Given the description of an element on the screen output the (x, y) to click on. 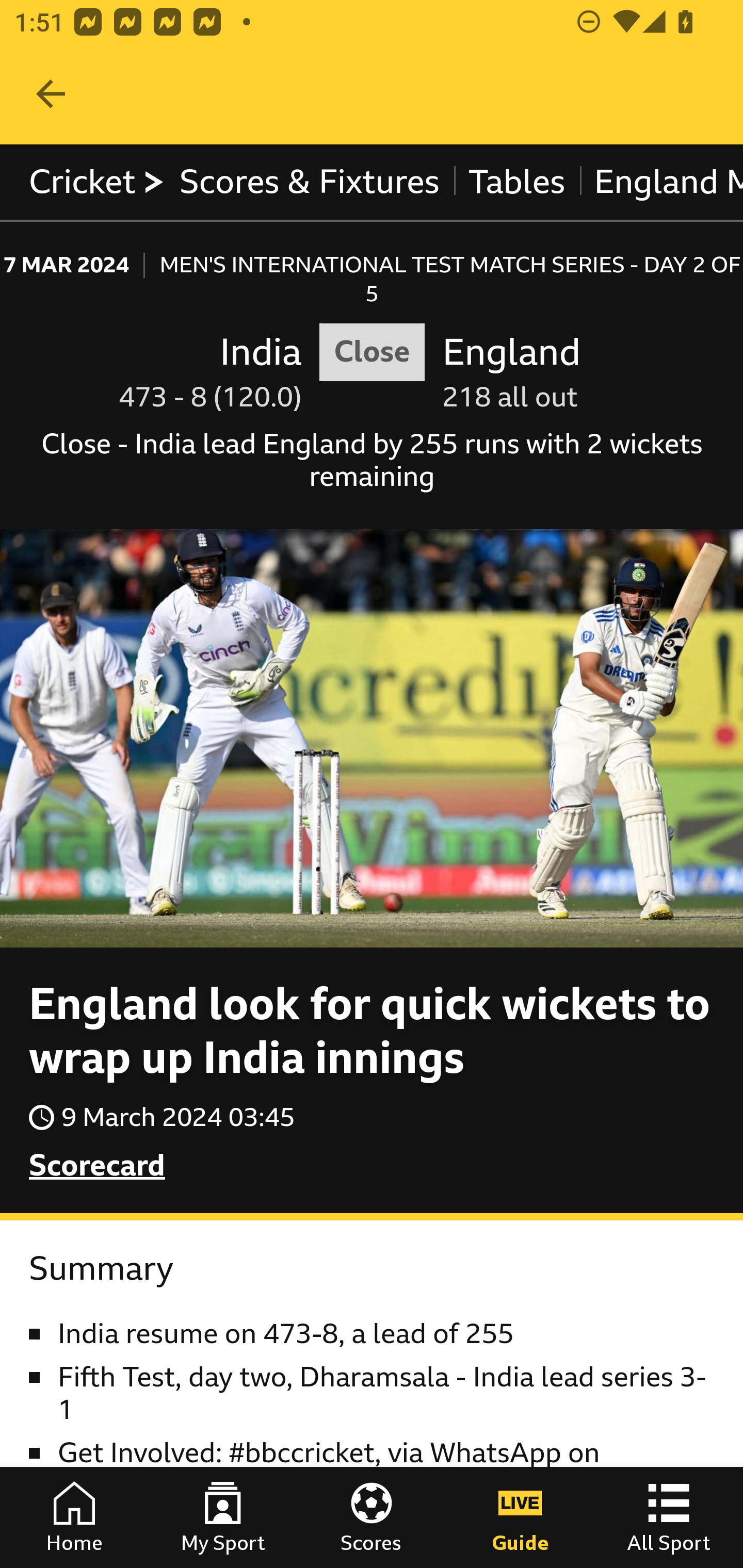
Navigate up (50, 93)
Cricket  (97, 181)
Scores & Fixtures (309, 181)
Tables (517, 181)
England Men (660, 181)
Scorecard (97, 1165)
Home (74, 1517)
My Sport (222, 1517)
Scores (371, 1517)
All Sport (668, 1517)
